Given the description of an element on the screen output the (x, y) to click on. 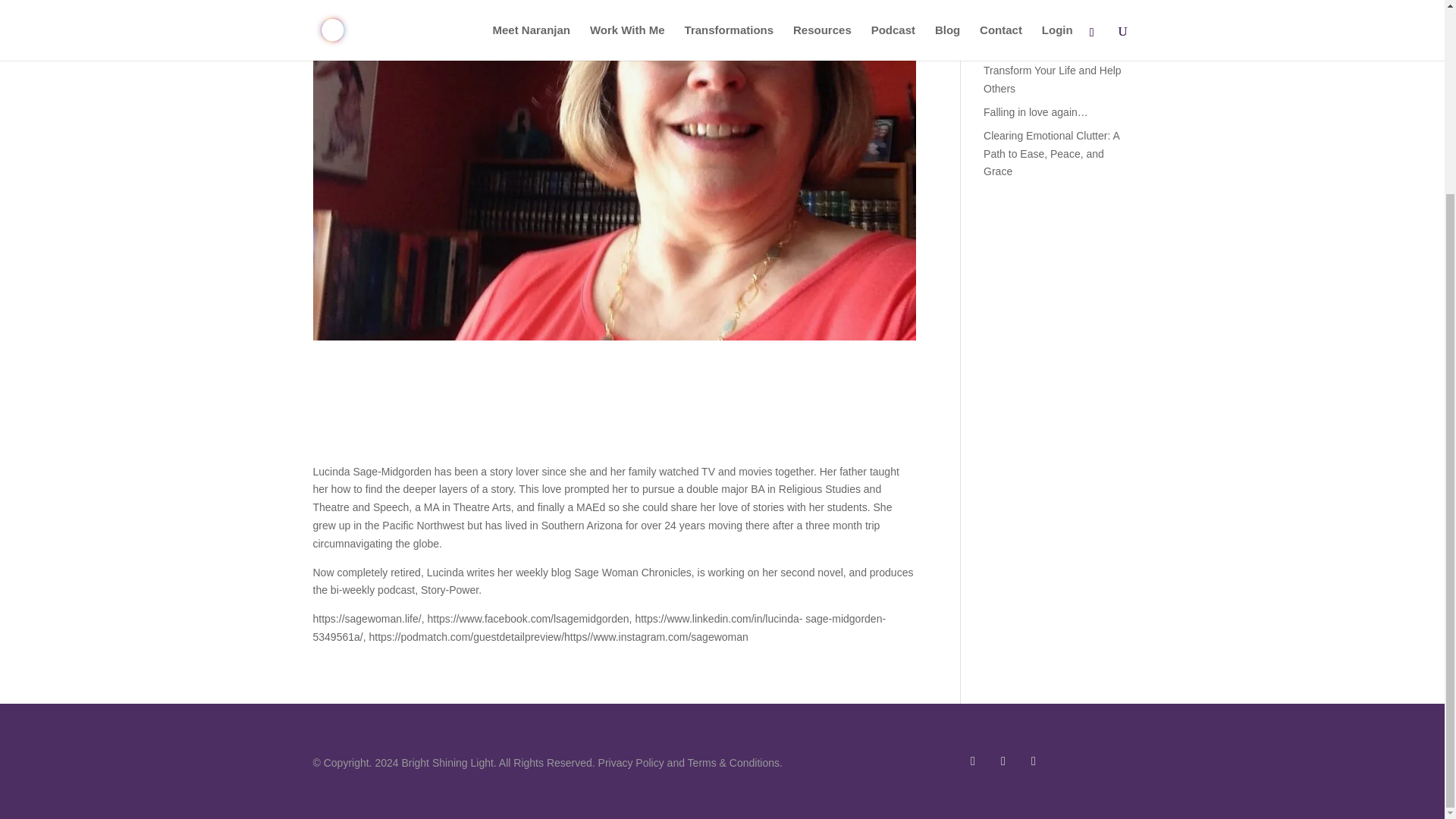
Clearing Emotional Clutter: A Path to Ease, Peace, and Grace (1051, 153)
Follow on Instagram (1033, 761)
Follow on Facebook (972, 761)
Follow on LinkedIn (1002, 761)
